Given the description of an element on the screen output the (x, y) to click on. 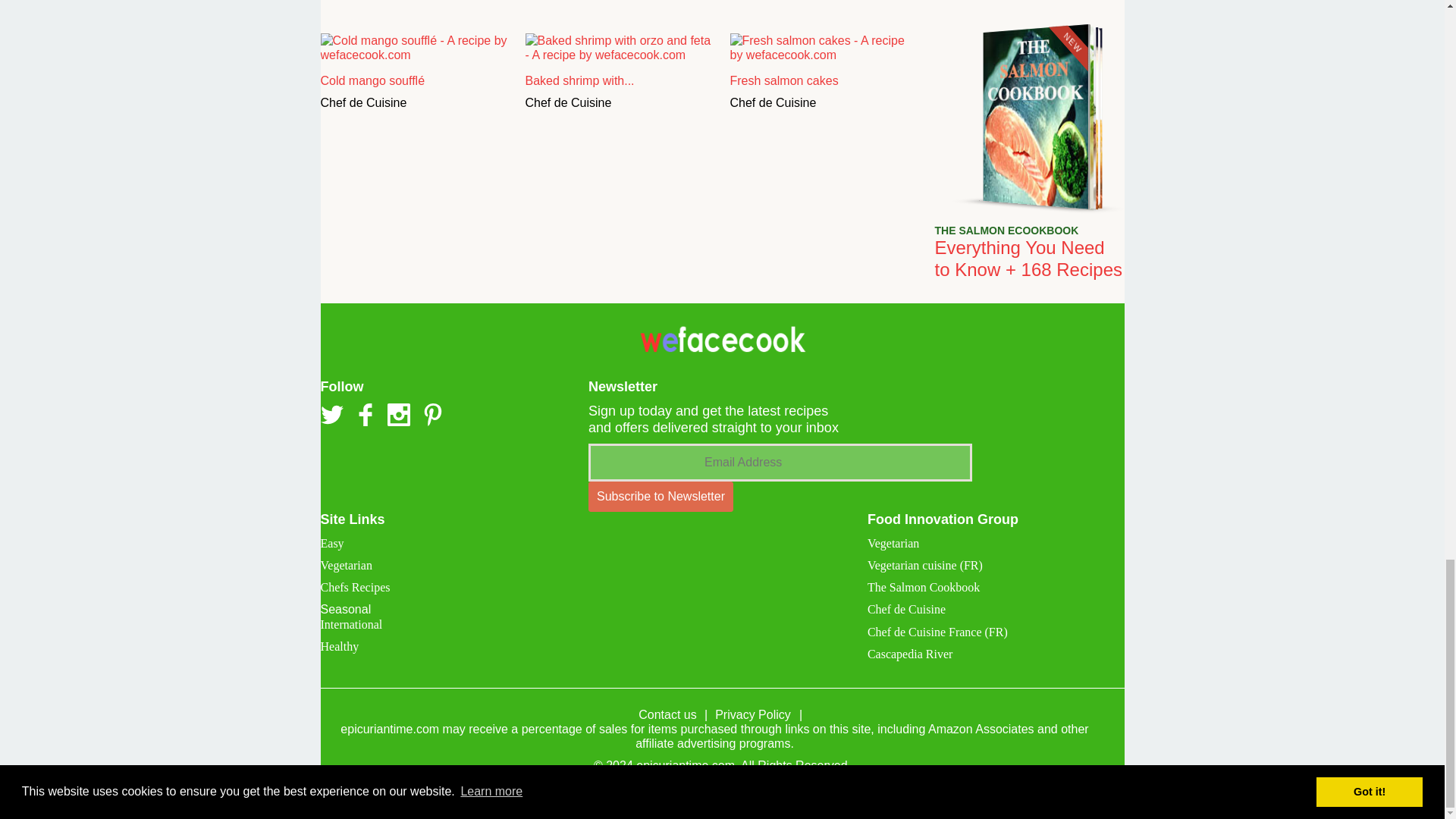
Subscribe to Newsletter (660, 496)
